Given the description of an element on the screen output the (x, y) to click on. 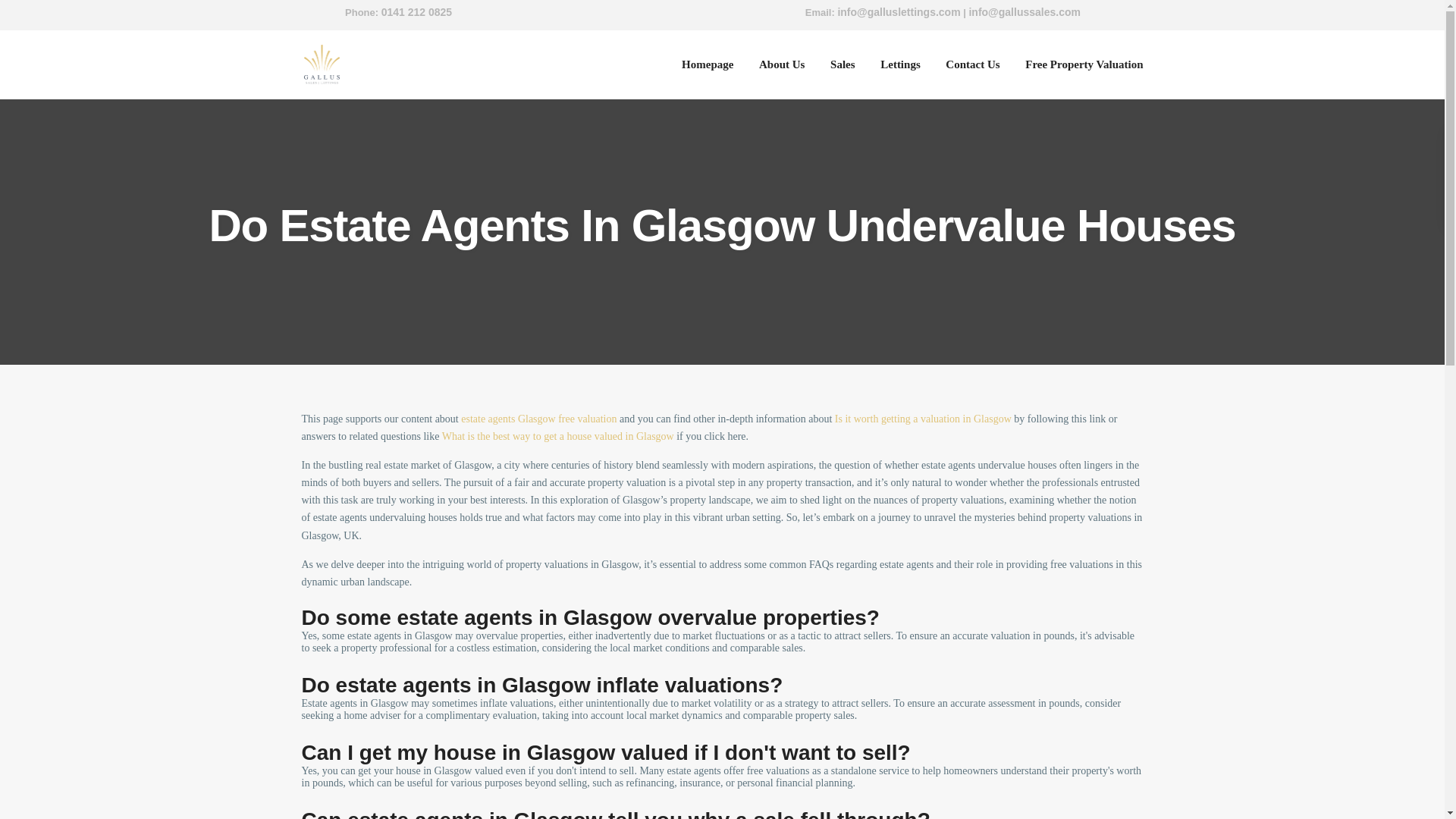
Lettings (900, 64)
0141 212 0825 (416, 13)
Homepage (706, 64)
About Us (781, 64)
